Given the description of an element on the screen output the (x, y) to click on. 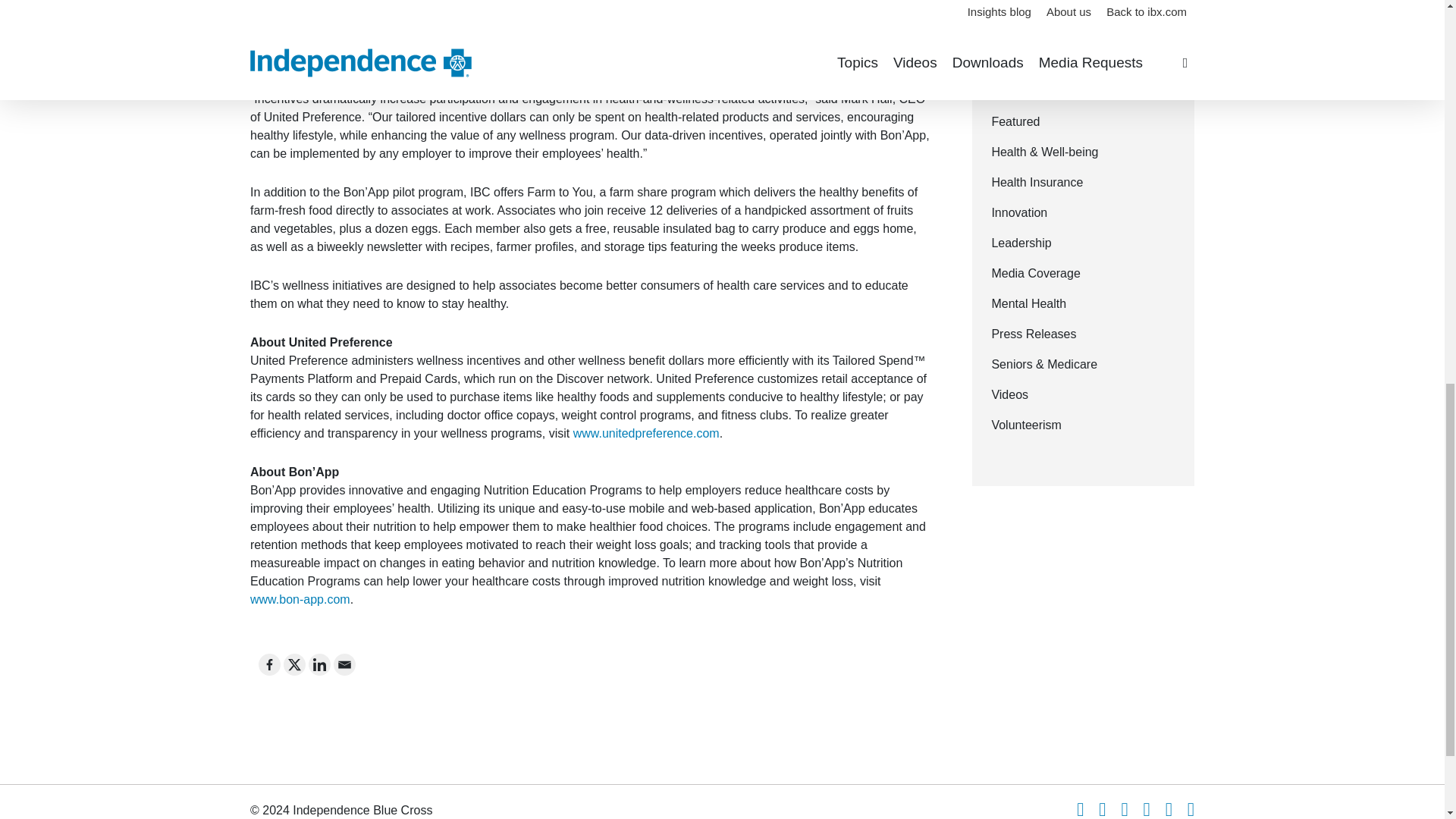
X (294, 664)
Facebook (270, 664)
Email (344, 664)
Linkedin (319, 664)
